Given the description of an element on the screen output the (x, y) to click on. 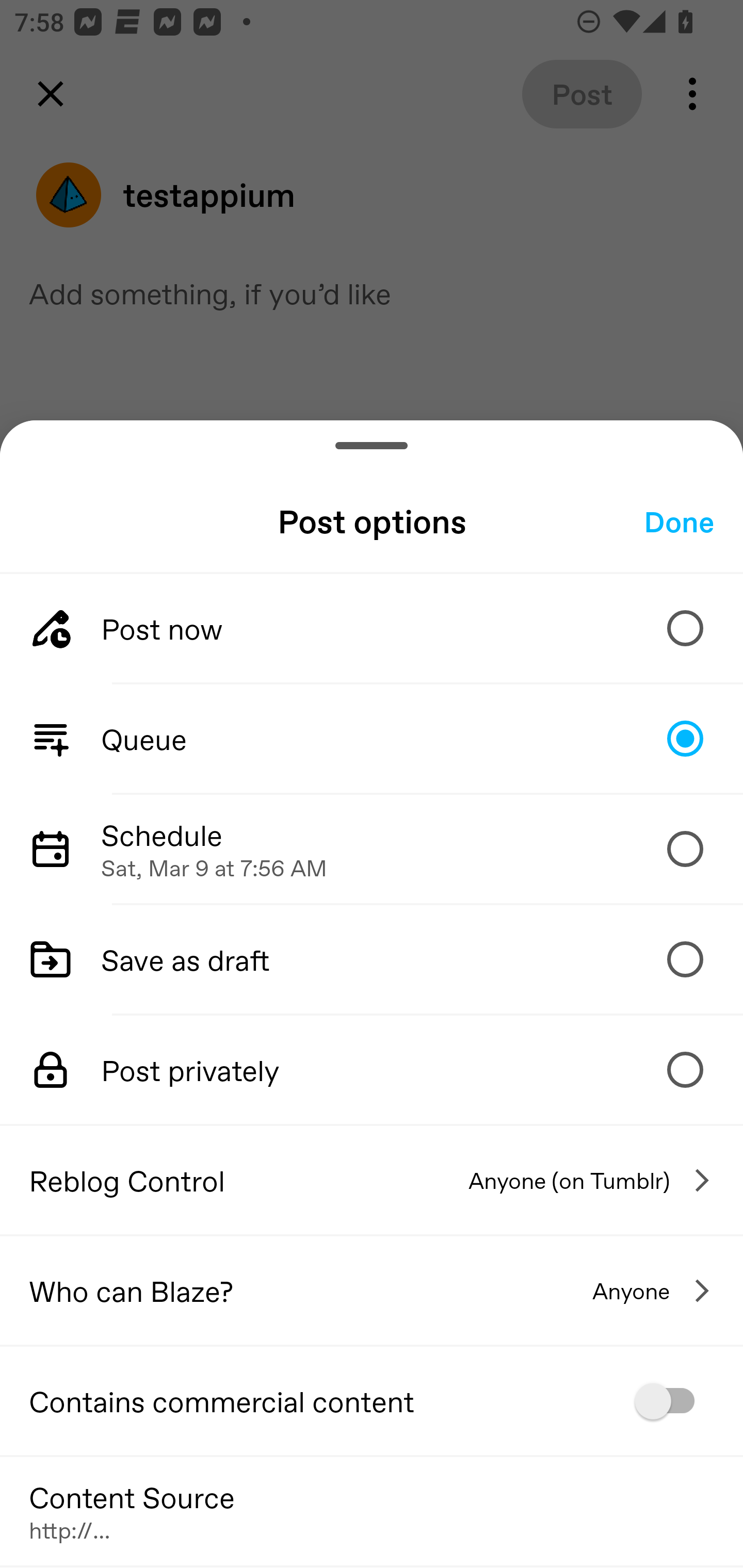
Done (679, 521)
Post now (371, 627)
Queue (371, 739)
Schedule Sat, Mar 9 at 7:56 AM (371, 848)
Save as draft (371, 958)
Post privately (371, 1070)
Reblog Control Anyone (on Tumblr) (371, 1179)
Who can Blaze? Anyone (371, 1290)
Contains commercial content (371, 1400)
Content Source http://… (371, 1510)
